Given the description of an element on the screen output the (x, y) to click on. 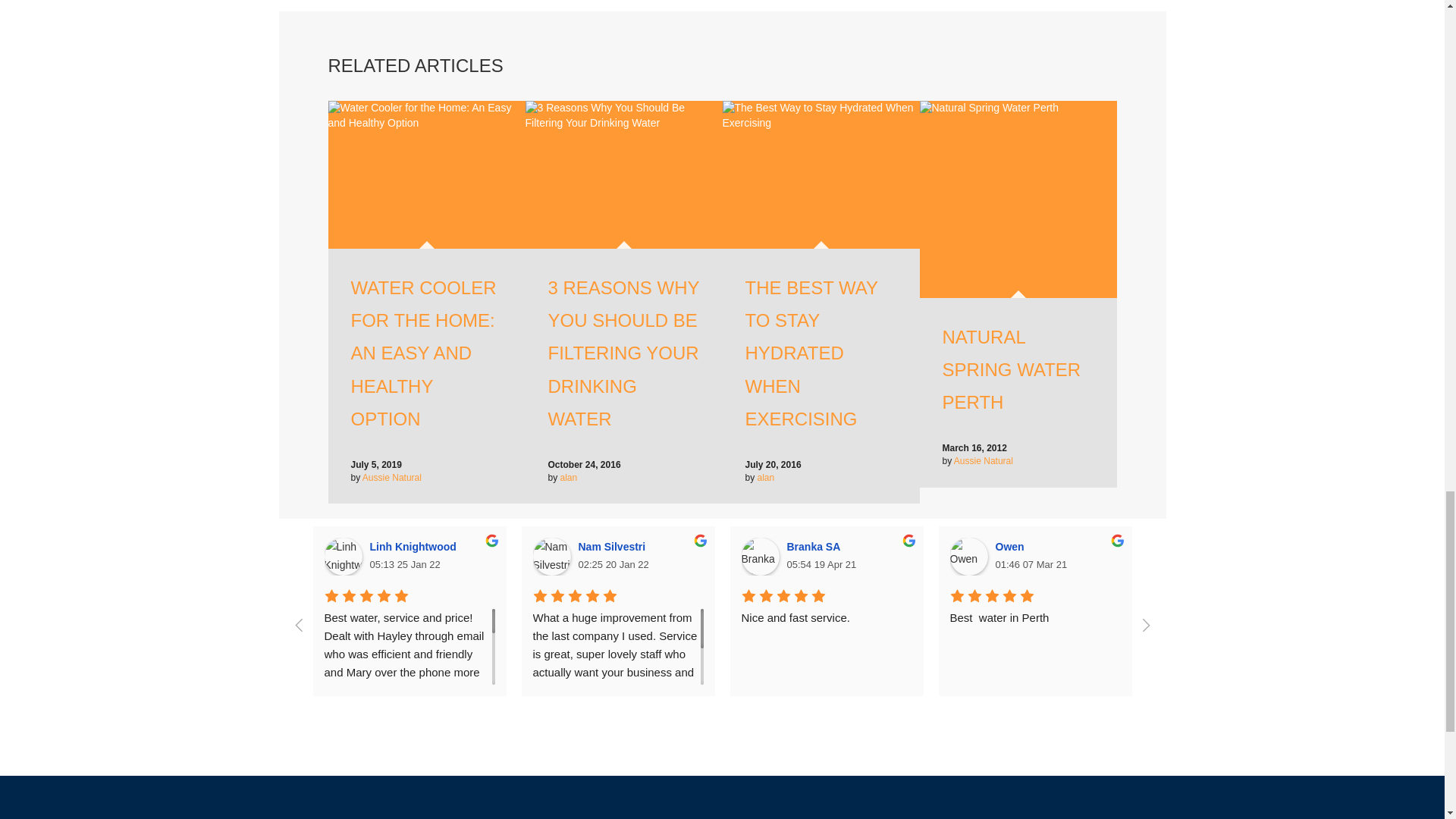
Tanya Bolt (1386, 556)
Linh Knightwood (343, 556)
Branka SA (759, 556)
Owen (968, 556)
Peter McMullen (1177, 556)
Nam Silvestri (551, 556)
